Given the description of an element on the screen output the (x, y) to click on. 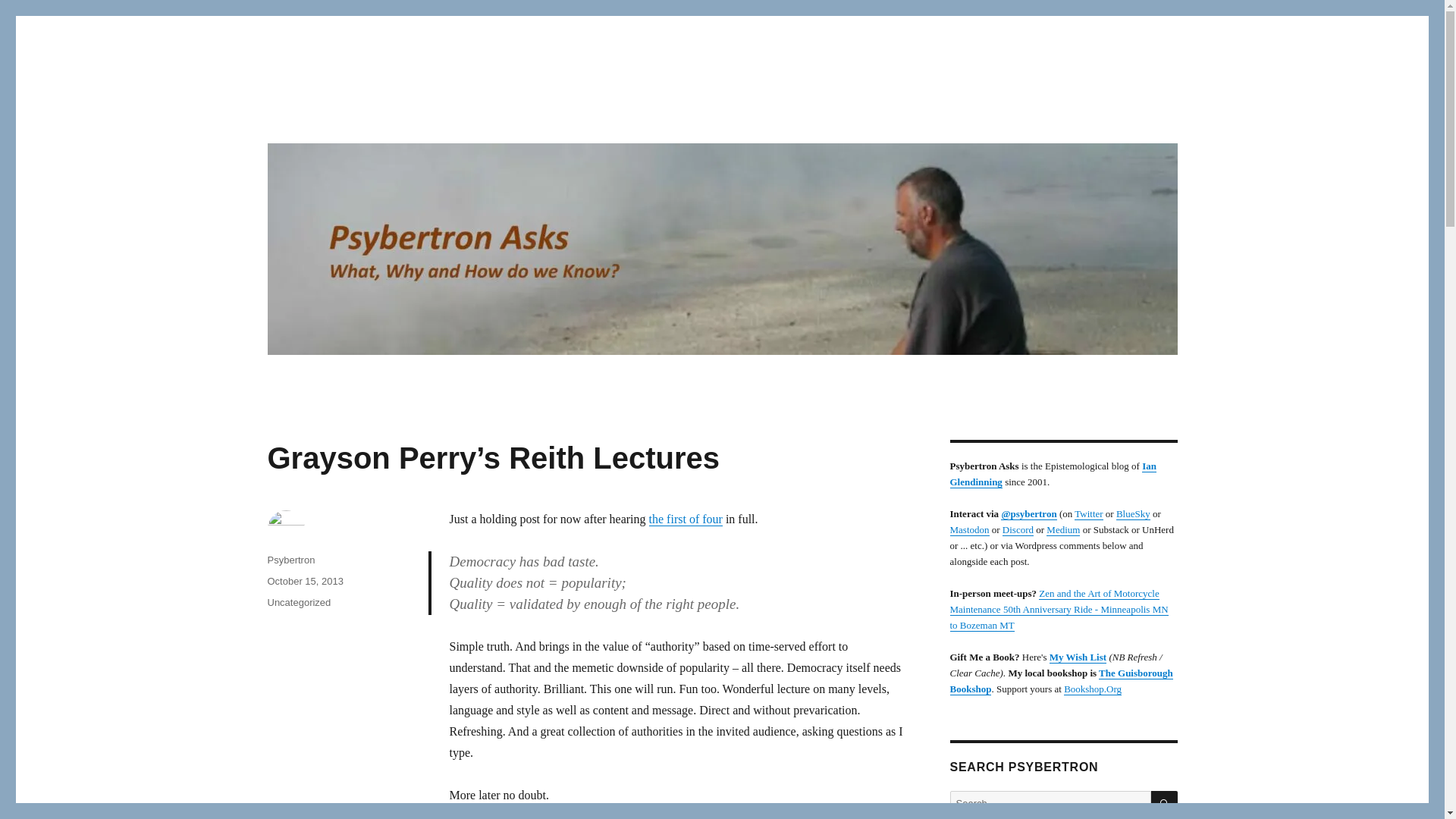
Mastodon (968, 529)
Psybertron Asks (350, 114)
Bookshop.Org (1092, 688)
Discord (1018, 529)
The Guisborough Bookshop (1060, 680)
Uncategorized (298, 602)
the first of four (685, 518)
October 15, 2013 (304, 581)
Twitter (1088, 513)
